Given the description of an element on the screen output the (x, y) to click on. 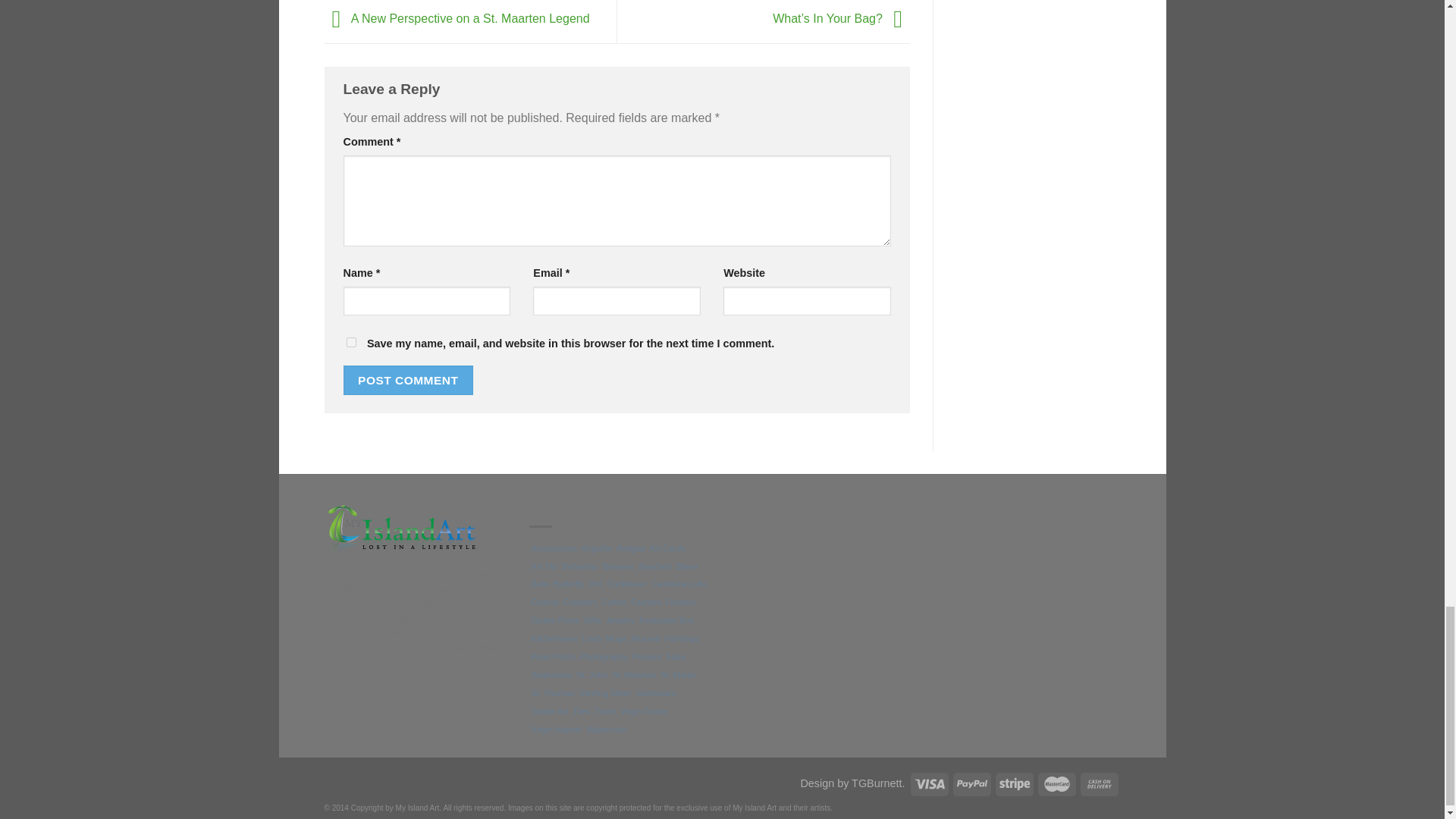
Post Comment (407, 379)
yes (350, 342)
